Given the description of an element on the screen output the (x, y) to click on. 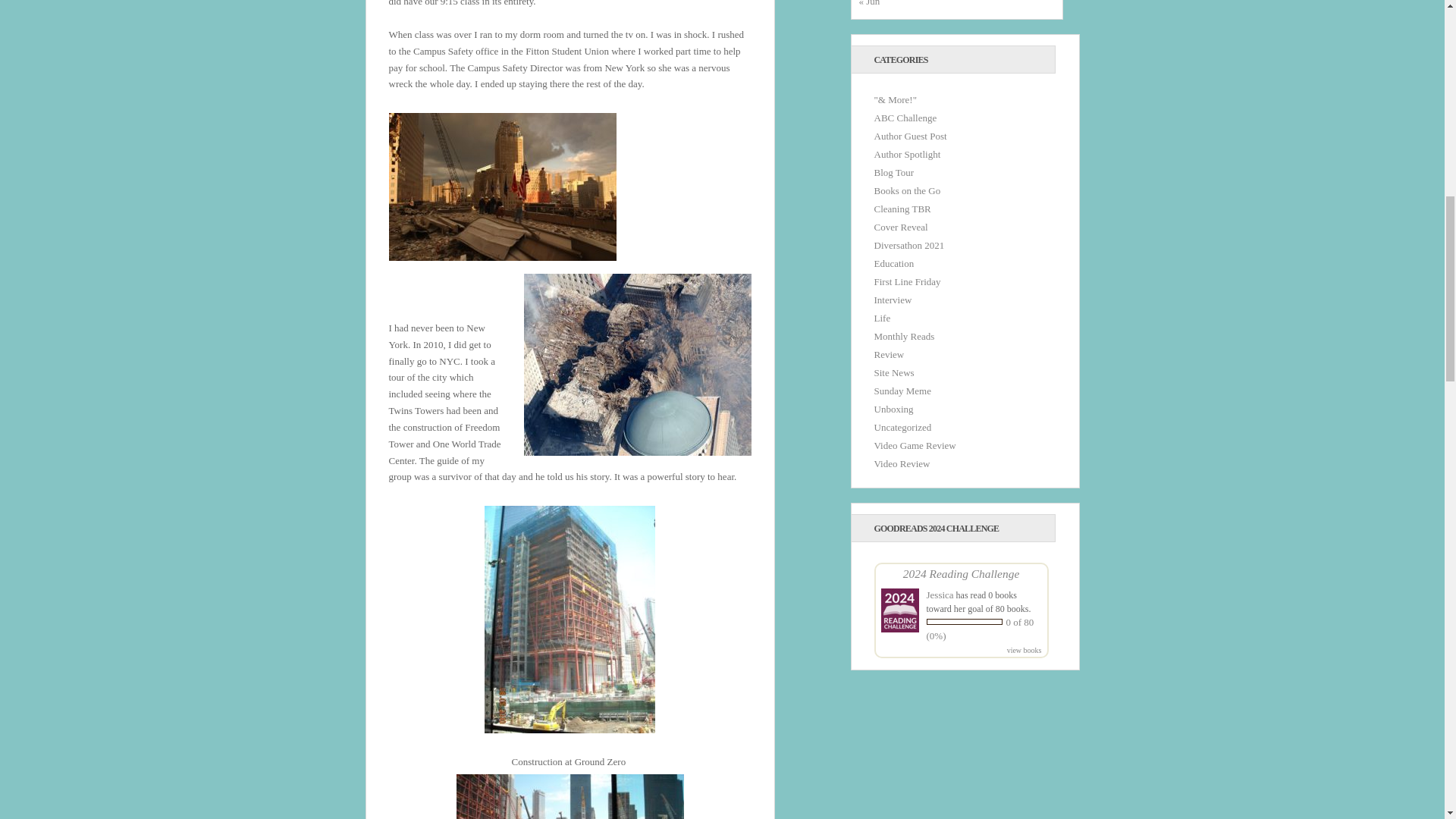
Cleaning TBR (901, 208)
ABC Challenge (904, 117)
Interview (892, 299)
Author Spotlight (906, 153)
Books on the Go (906, 190)
Diversathon 2021 (908, 244)
Life (881, 317)
Blog Tour (893, 172)
Education (893, 263)
First Line Friday (906, 281)
Monthly Reads (903, 336)
Author Guest Post (909, 135)
Cover Reveal (900, 226)
